Given the description of an element on the screen output the (x, y) to click on. 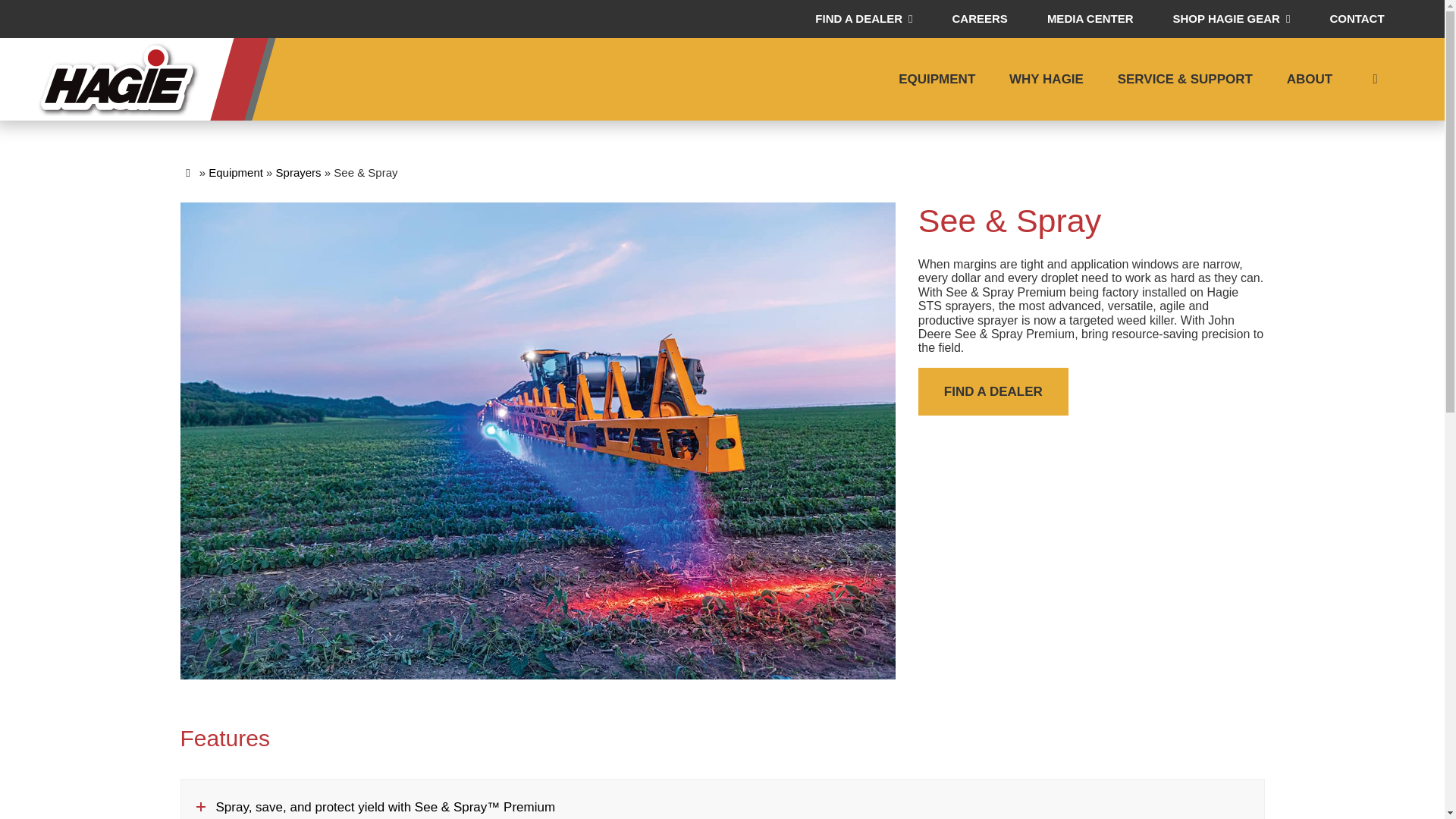
FIND A DEALER (863, 18)
WHY HAGIE (1046, 79)
CONTACT (1356, 18)
EQUIPMENT (936, 79)
MEDIA CENTER (1090, 18)
SHOP HAGIE GEAR (1231, 18)
ABOUT (1309, 79)
CAREERS (979, 18)
